Given the description of an element on the screen output the (x, y) to click on. 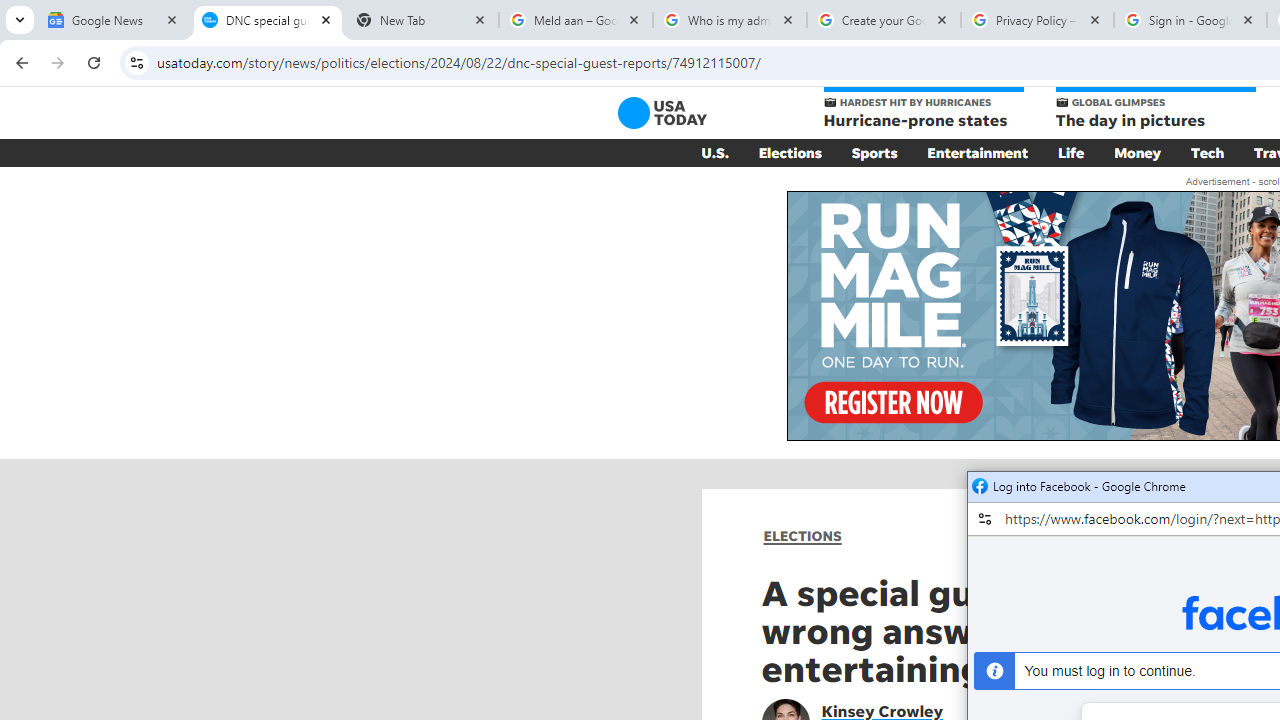
U.S. (714, 152)
USA TODAY (661, 112)
Tech (1207, 152)
Google News (113, 20)
Money (1137, 152)
Create your Google Account (883, 20)
Entertainment (977, 152)
Sign in - Google Accounts (1190, 20)
Elections (789, 152)
Life (1071, 152)
